Given the description of an element on the screen output the (x, y) to click on. 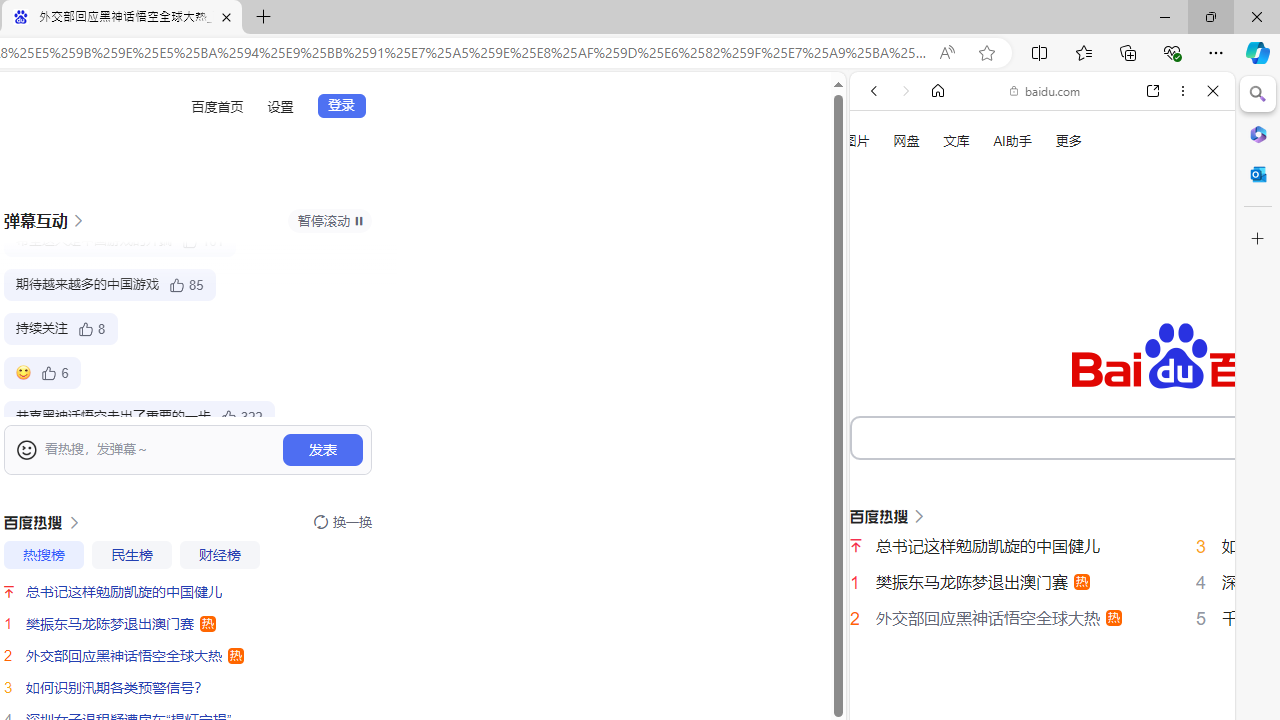
Customize (1258, 239)
Read aloud this page (Ctrl+Shift+U) (946, 53)
English (Uk) (1042, 622)
Learn more (943, 272)
Preferences (1189, 337)
English (US) (1042, 579)
More options (1182, 91)
Cambridge Dictionary (1034, 698)
Restore (1210, 16)
Add this page to favorites (Ctrl+D) (986, 53)
